Given the description of an element on the screen output the (x, y) to click on. 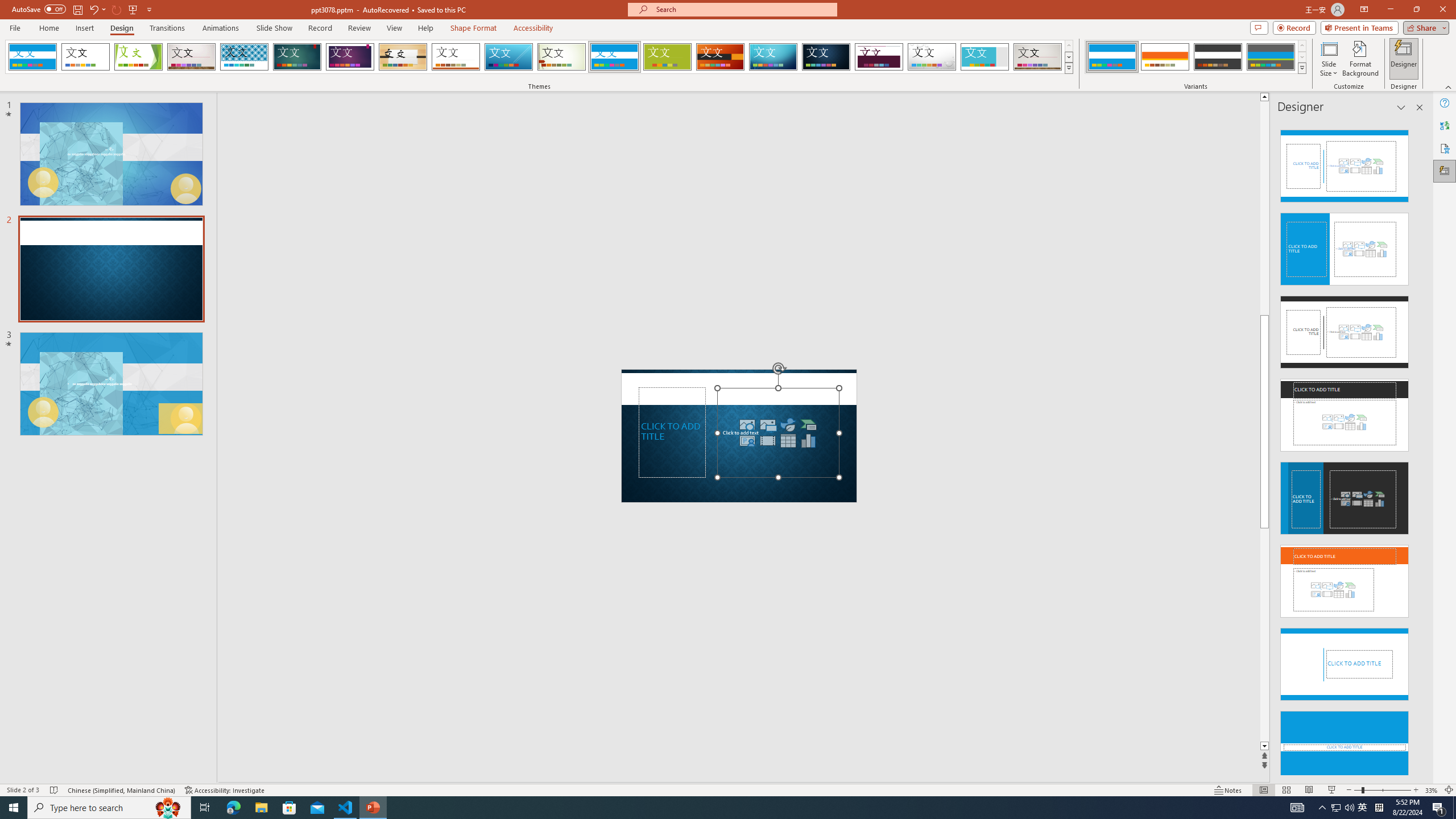
Recommended Design: Design Idea (1344, 162)
Droplet (931, 56)
Slide Size (1328, 58)
Class: NetUIScrollBar (1418, 447)
Insert Table (787, 440)
Banded (614, 56)
